Given the description of an element on the screen output the (x, y) to click on. 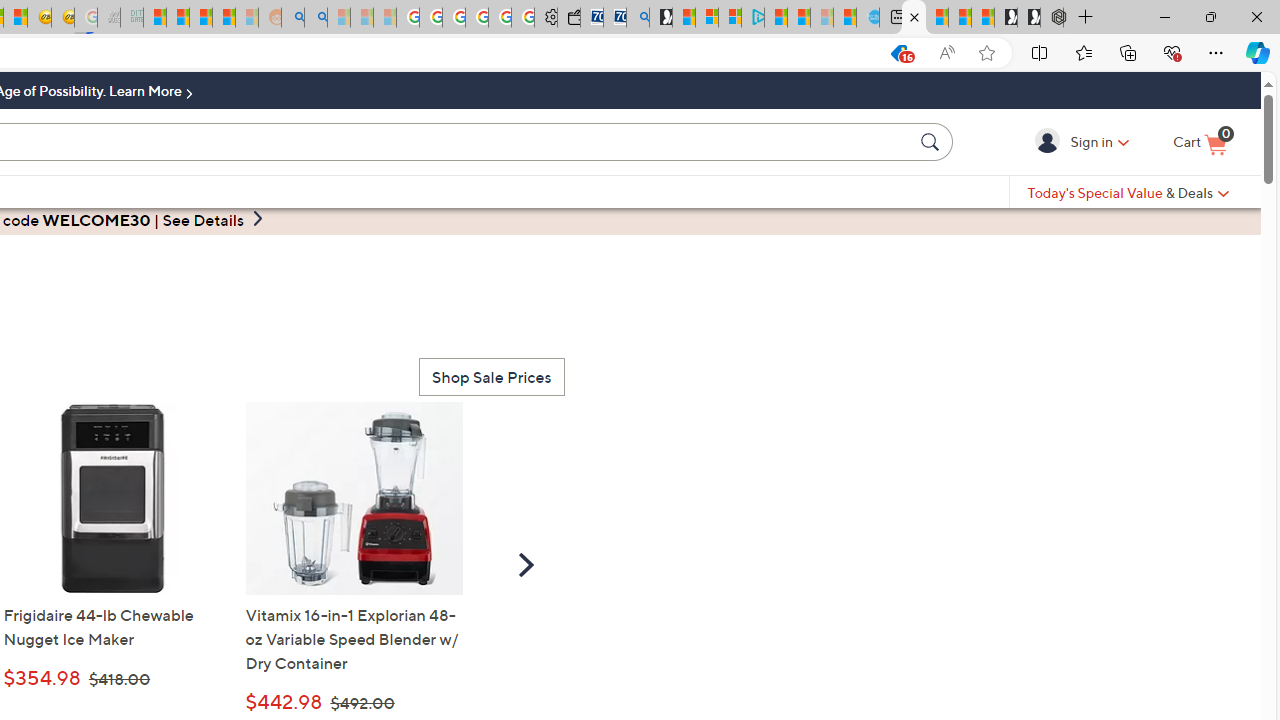
Cart is Empty  (1199, 143)
 Frigidaire 44-lb Chewable Nugget Ice Maker - K86274 (111, 498)
Student Loan Update: Forgiveness Program Ends This Month (223, 17)
Utah sues federal government - Search (315, 17)
